Given the description of an element on the screen output the (x, y) to click on. 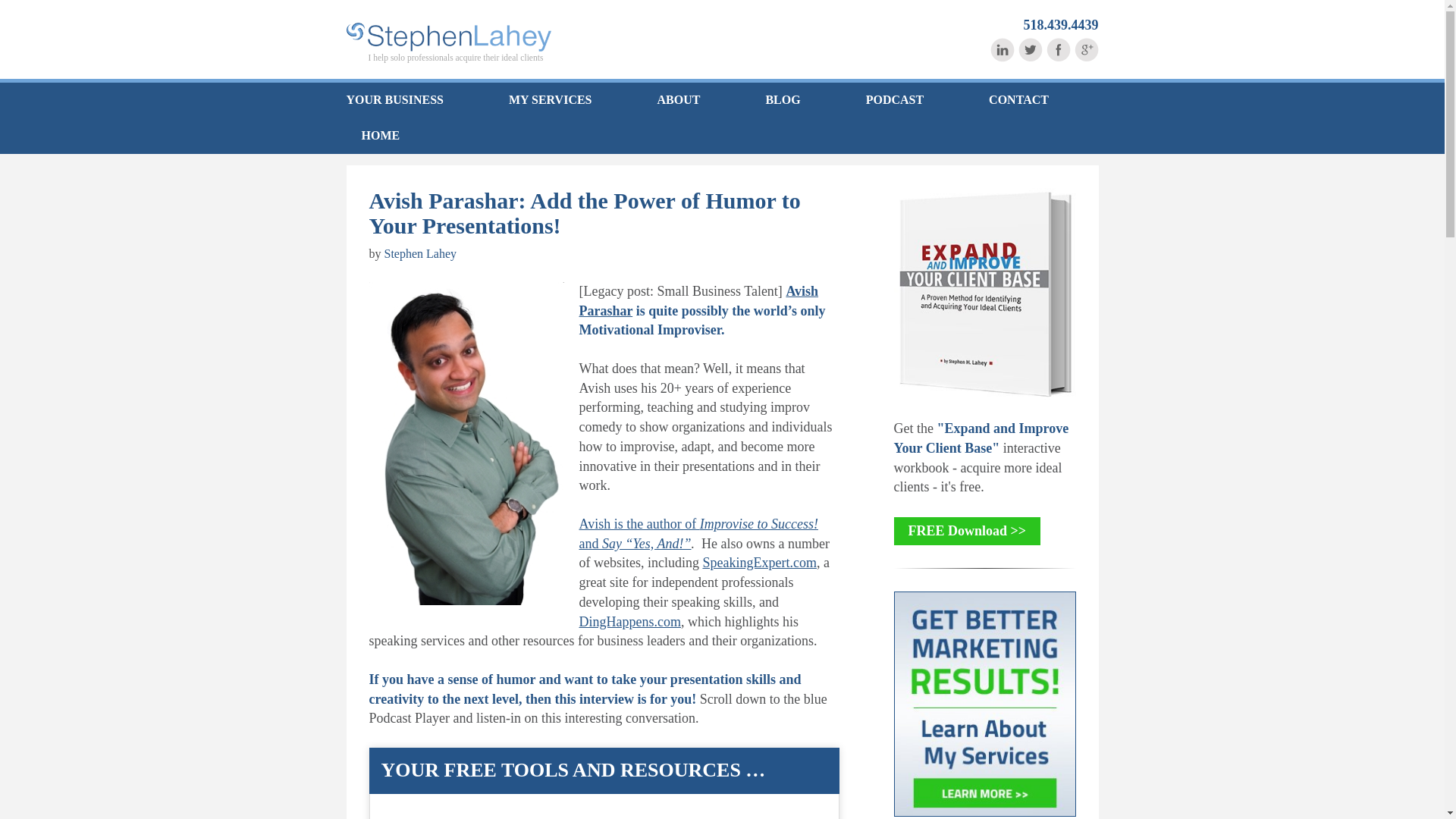
Speaker Resources (758, 562)
SpeakingExpert.com (758, 562)
Avish is the author of Improvise to Success! and (698, 533)
Avish Parashar (698, 300)
BLOG (782, 99)
HOME (372, 135)
MY SERVICES (550, 99)
Stephen Lahey (420, 253)
Smart Solo Business (448, 36)
Avish Parashar author page (698, 533)
YOUR BUSINESS (410, 99)
Avish Parashar, professional speaker (630, 621)
Avish Parashar author page (646, 543)
CONTACT (1019, 99)
